Given the description of an element on the screen output the (x, y) to click on. 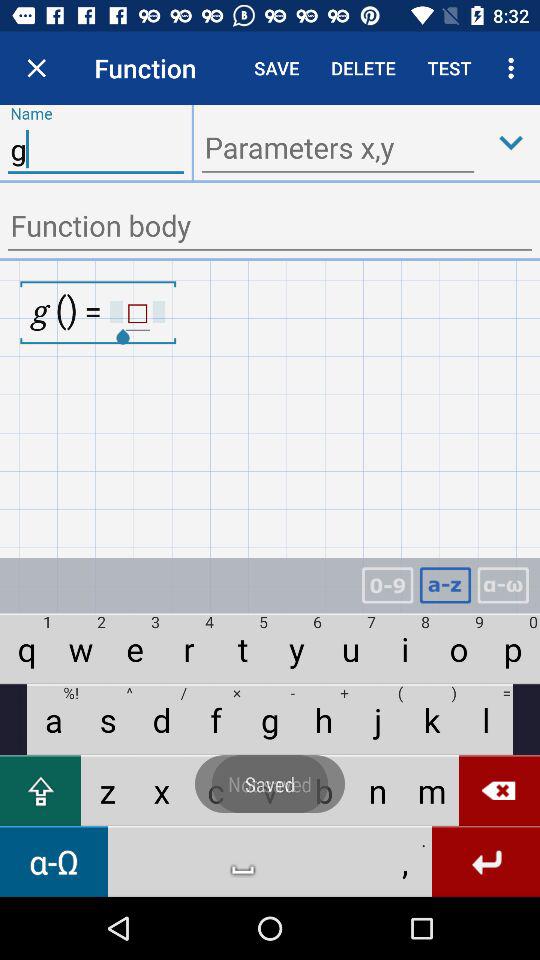
select button (511, 142)
